Given the description of an element on the screen output the (x, y) to click on. 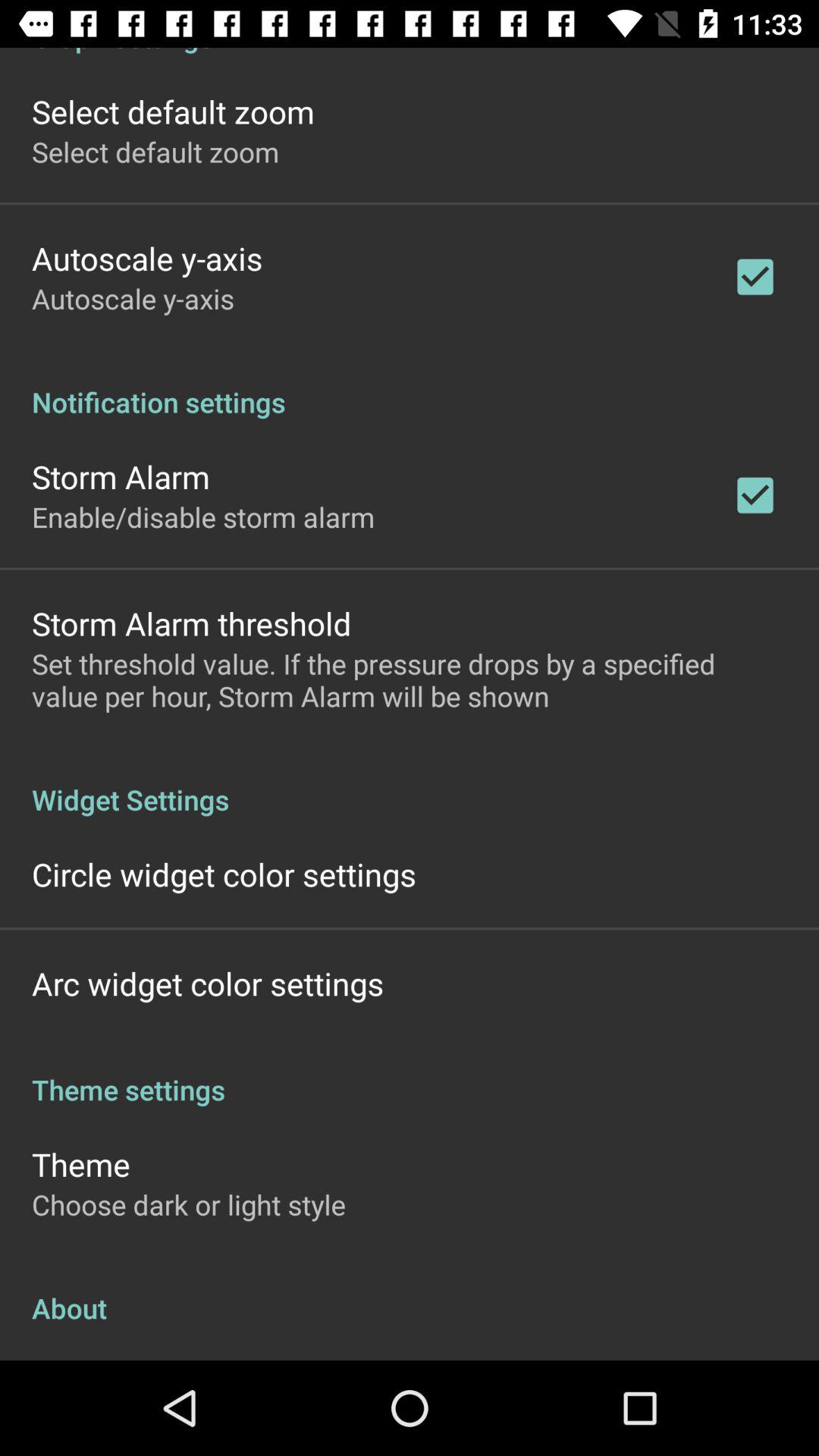
click app above the theme (409, 1073)
